Given the description of an element on the screen output the (x, y) to click on. 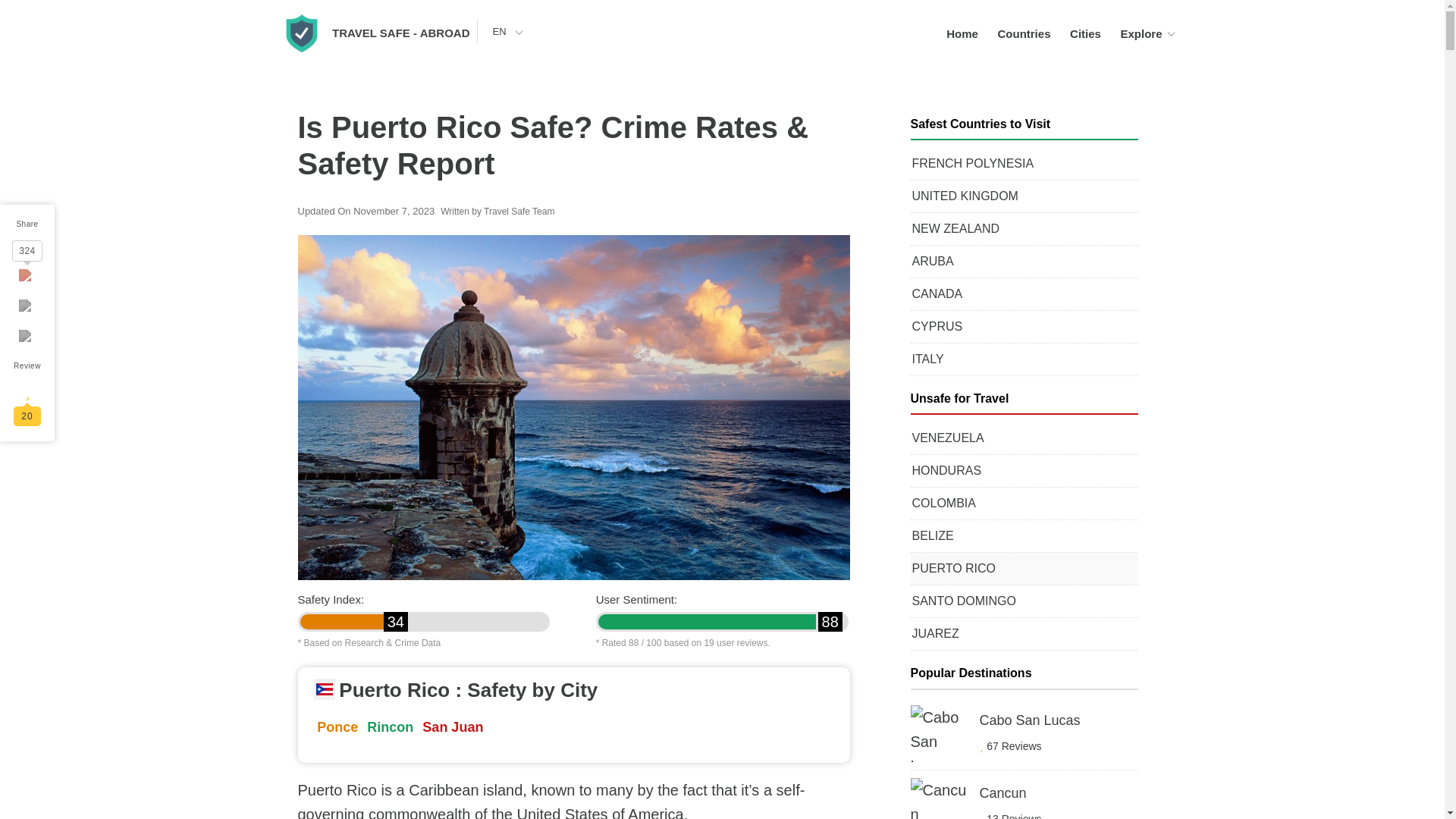
Ponce Safety Review (337, 727)
Ponce (337, 727)
Countries (1023, 33)
Rincon Safety Review (390, 727)
Rincon (390, 727)
TRAVEL SAFE - ABROAD (399, 32)
San Juan (452, 727)
San Juan Safety Review (452, 727)
Explore (1140, 33)
Home (962, 33)
Cities (1085, 33)
